Given the description of an element on the screen output the (x, y) to click on. 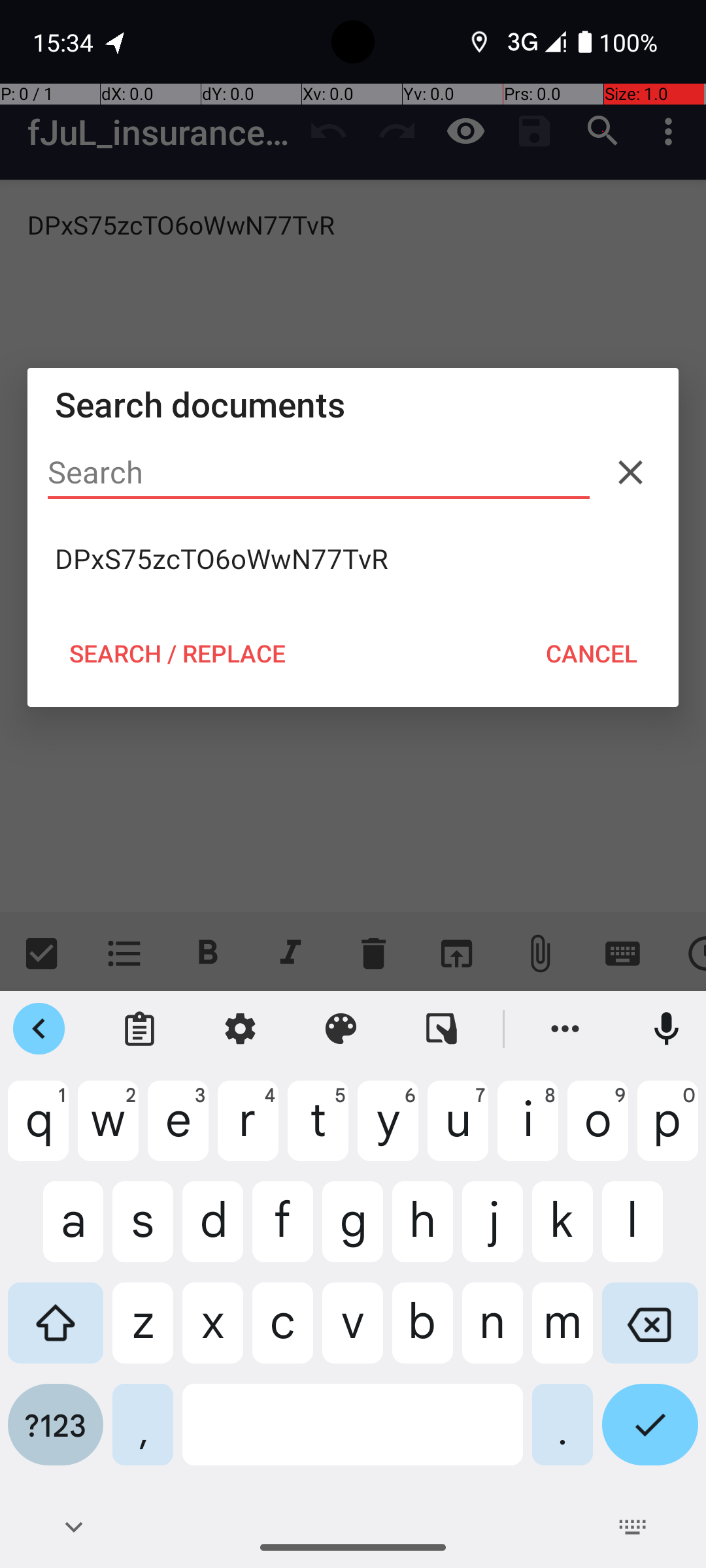
Search documents Element type: android.widget.TextView (352, 403)
DPxS75zcTO6oWwN77TvR Element type: android.widget.TextView (352, 558)
SEARCH / REPLACE Element type: android.widget.Button (176, 652)
Theme settings Element type: android.widget.FrameLayout (340, 1028)
One handed mode Element type: android.widget.FrameLayout (441, 1028)
